Given the description of an element on the screen output the (x, y) to click on. 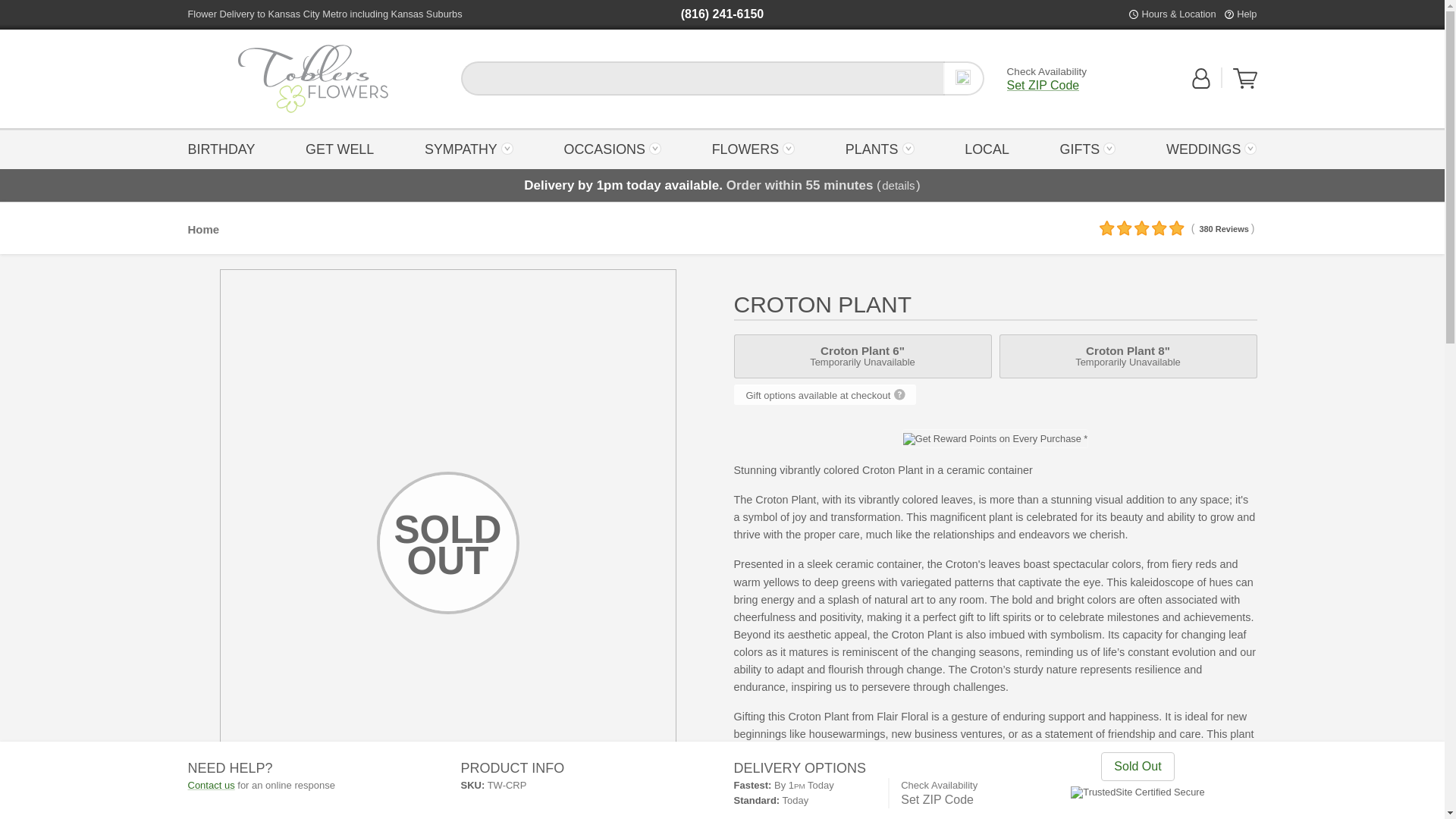
OCCASIONS (611, 147)
Help (1246, 13)
Search (963, 78)
Back to the Home Page (312, 79)
The Blossom Shop Logo (312, 79)
GET WELL (313, 79)
View Your Shopping Cart (339, 147)
View Your Shopping Cart (1245, 85)
SYMPATHY (1245, 78)
